Given the description of an element on the screen output the (x, y) to click on. 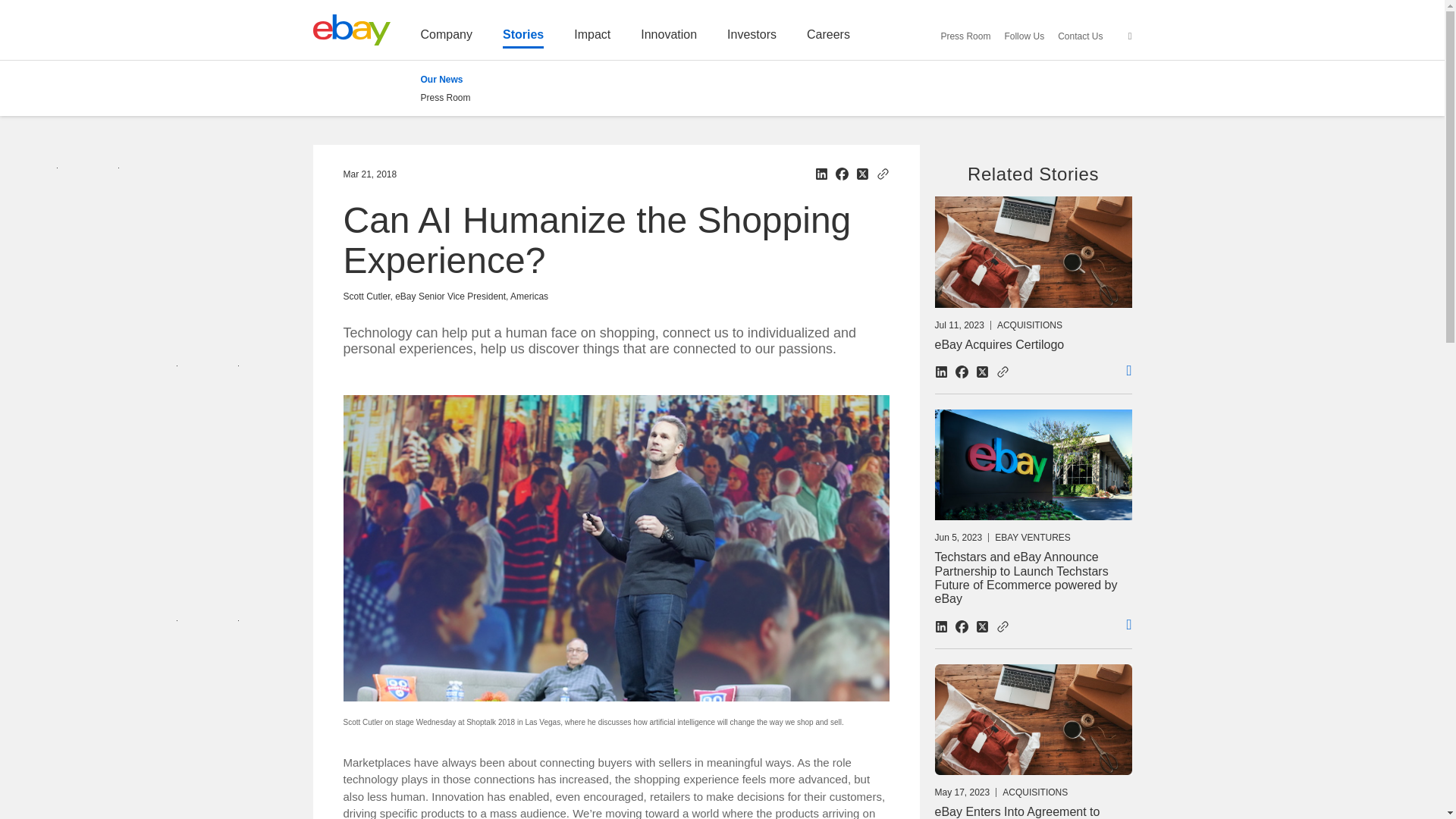
Share on LinkedIn (820, 173)
Company (445, 38)
Innovation (668, 38)
Stories (522, 38)
Share on LinkedIn (940, 371)
Impact (591, 38)
eBay Acquires Certilogo (971, 371)
Investors (751, 38)
Share on Facebook (841, 173)
eBay Inc. Home Page (351, 29)
